Given the description of an element on the screen output the (x, y) to click on. 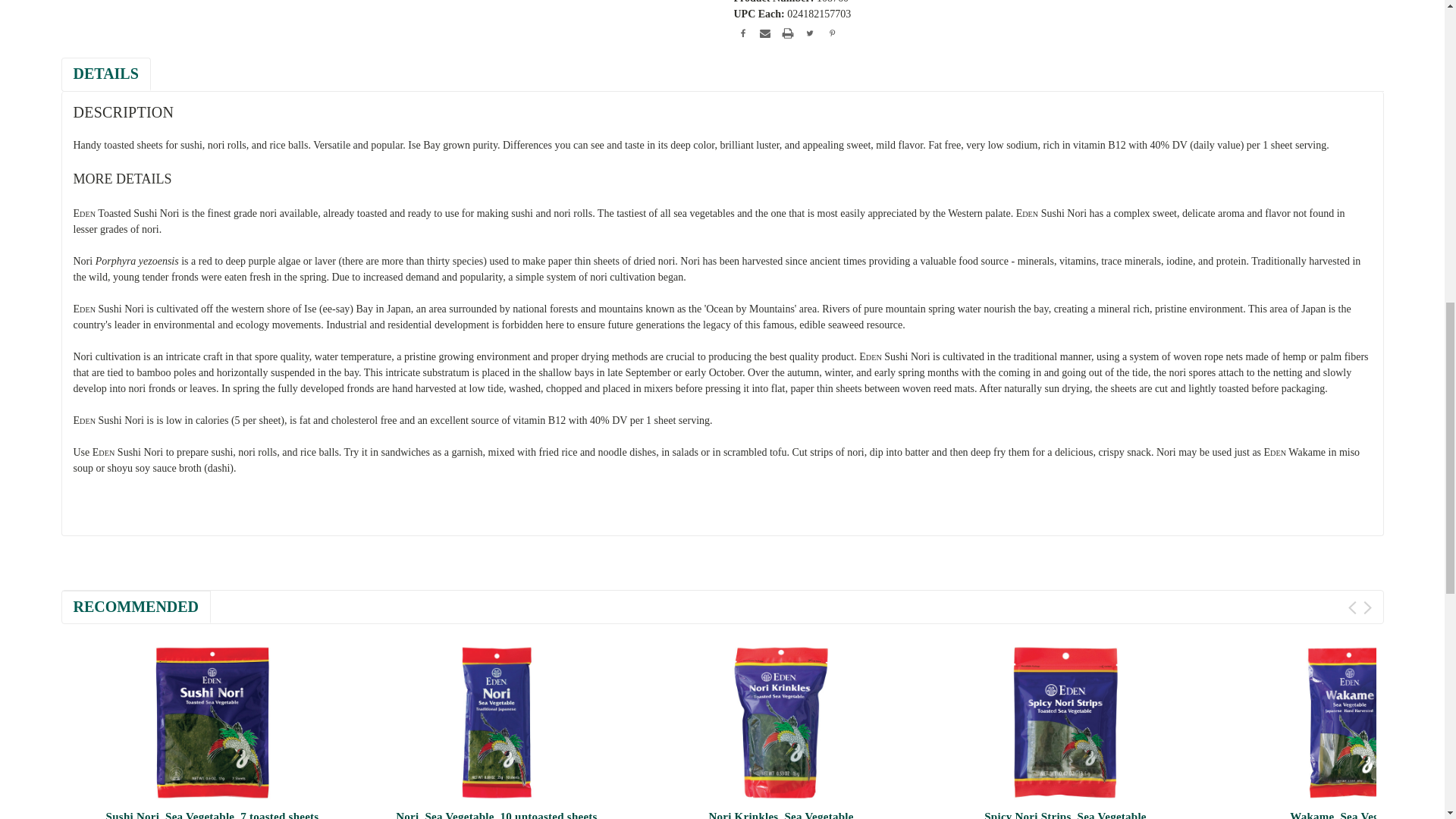
pinterest (832, 33)
facebook (742, 33)
twitter (809, 33)
email (764, 33)
print (786, 33)
